Given the description of an element on the screen output the (x, y) to click on. 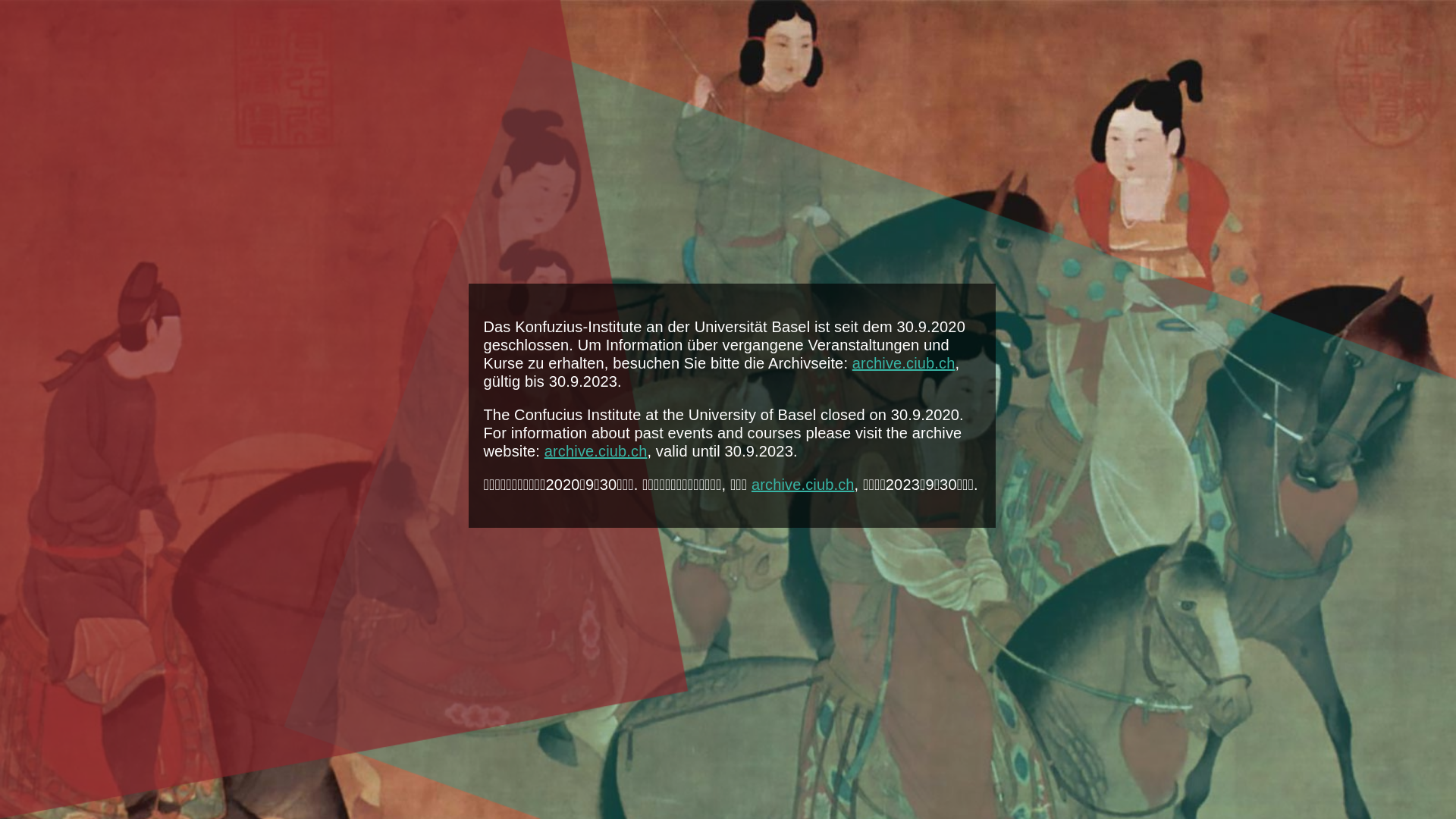
archive.ciub.ch Element type: text (903, 362)
archive.ciub.ch Element type: text (802, 484)
archive.ciub.ch Element type: text (595, 450)
